Given the description of an element on the screen output the (x, y) to click on. 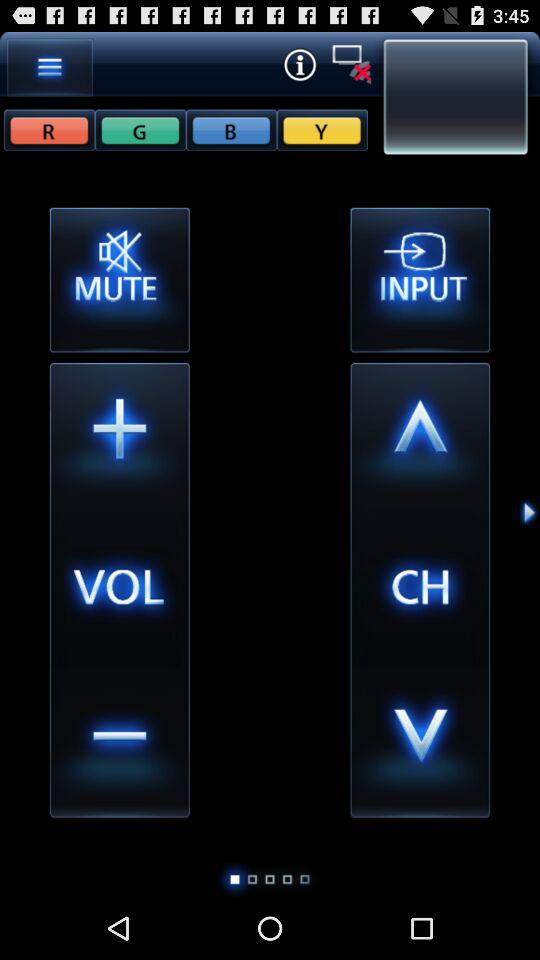
go to the r below menu button (49, 129)
